Given the description of an element on the screen output the (x, y) to click on. 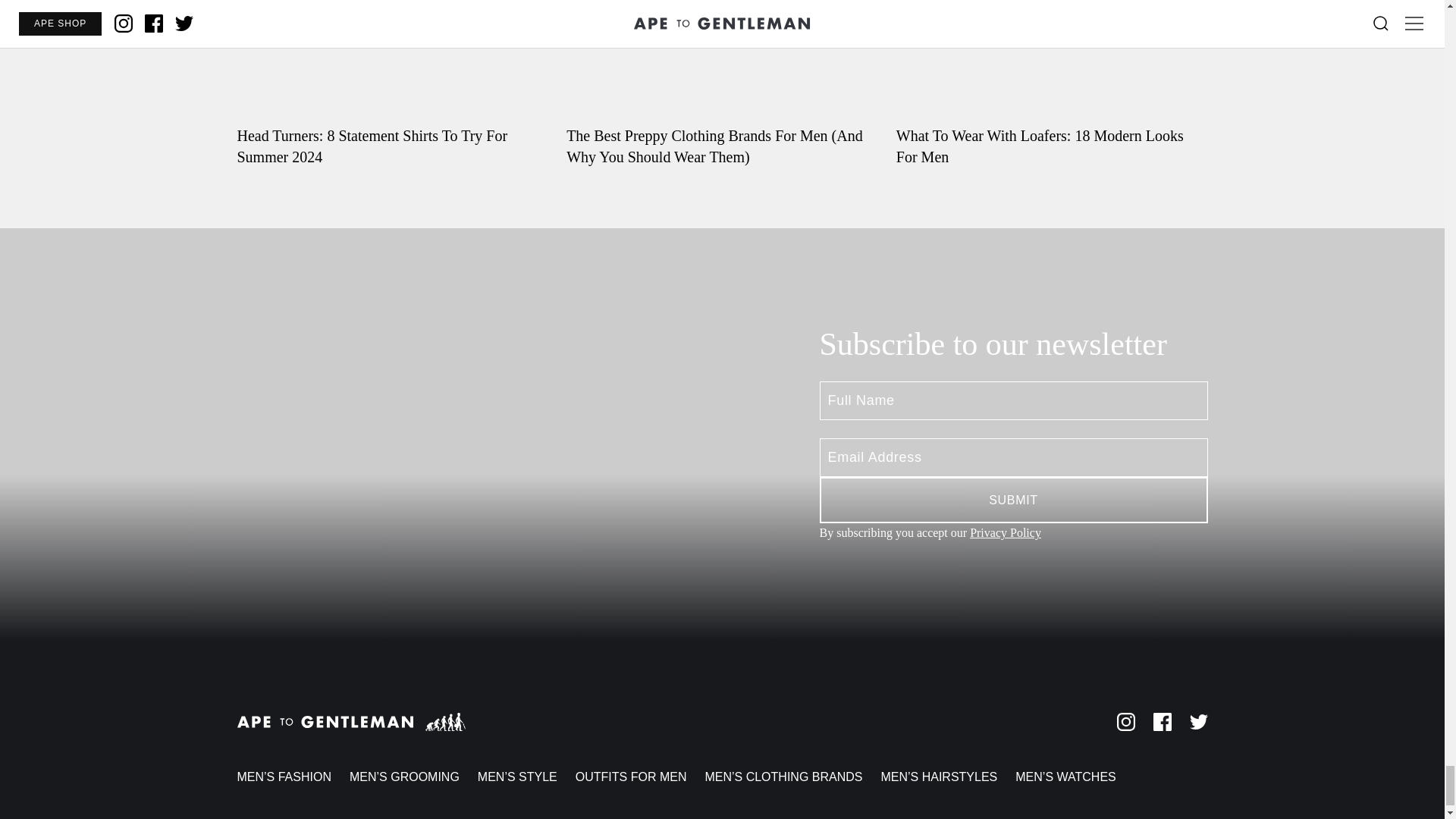
Head Turners: 8 Statement Shirts To Try For Summer 2024 (391, 83)
What To Wear With Loafers: 18 Modern Looks For Men (1052, 83)
Instagram (1125, 721)
Submit (1012, 500)
